Given the description of an element on the screen output the (x, y) to click on. 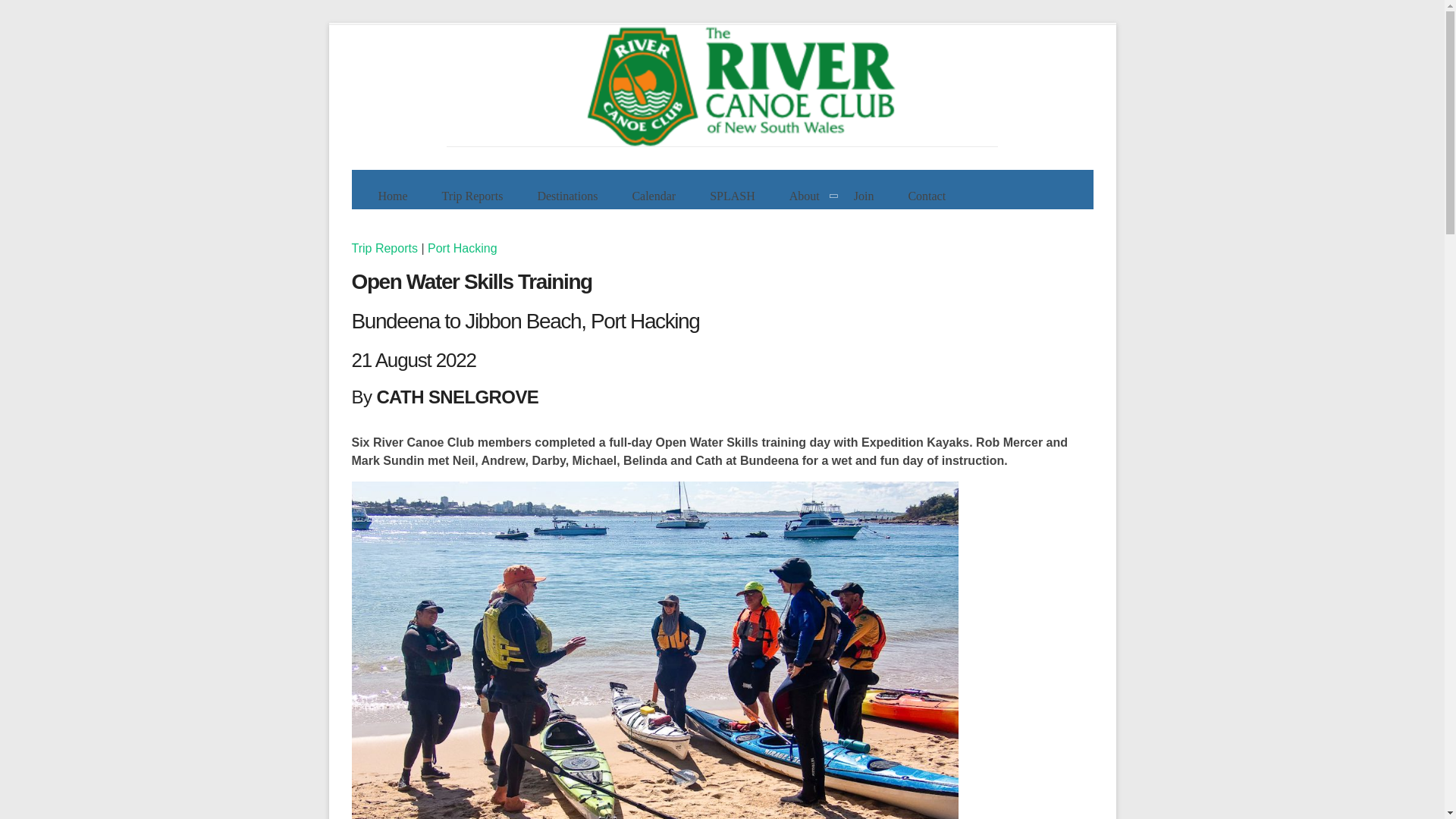
SPLASH (731, 196)
Calendar (653, 196)
Home (391, 196)
Port Hacking (462, 247)
Trip Reports (472, 196)
Join (863, 196)
Destinations (567, 196)
About (804, 196)
Contact (926, 196)
